Given the description of an element on the screen output the (x, y) to click on. 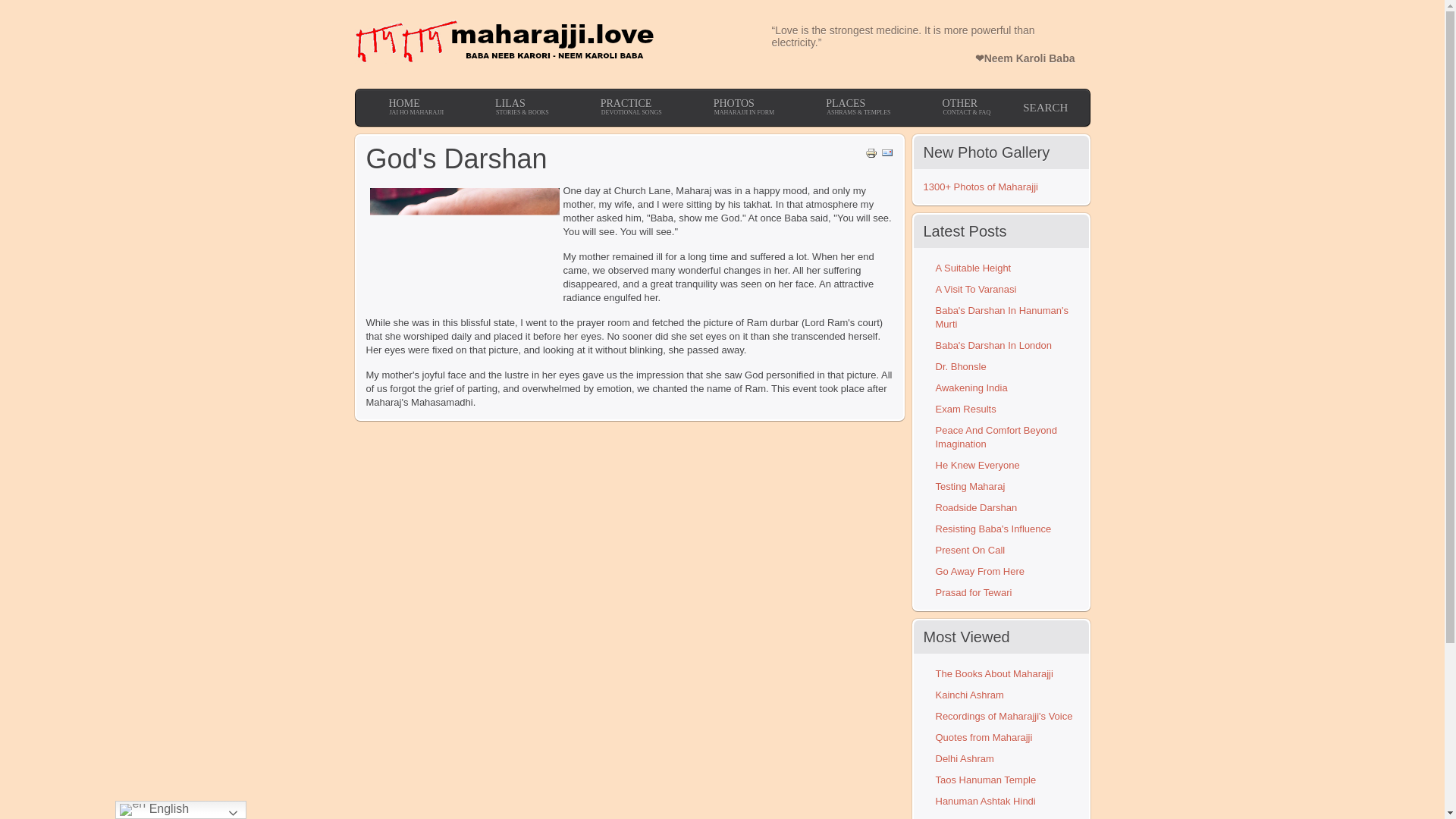
Print (870, 155)
Over 1200 Photos of Maharajji (980, 186)
Email (627, 107)
